Given the description of an element on the screen output the (x, y) to click on. 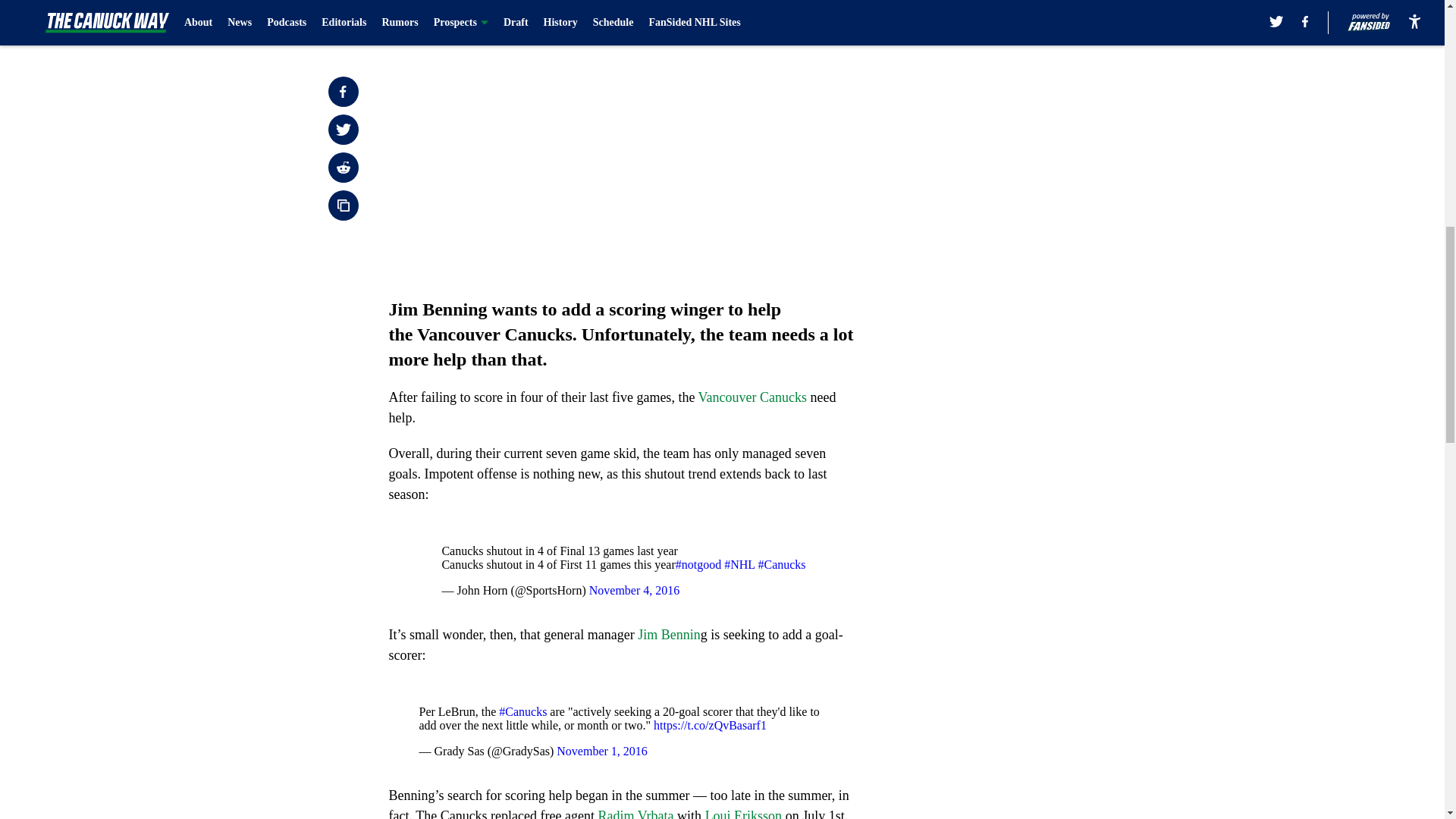
Jim Bennin (668, 634)
Radim Vrbata (636, 813)
November 4, 2016 (634, 590)
Vancouver Canucks (754, 396)
Loui Eriksson (743, 813)
November 1, 2016 (601, 750)
